Given the description of an element on the screen output the (x, y) to click on. 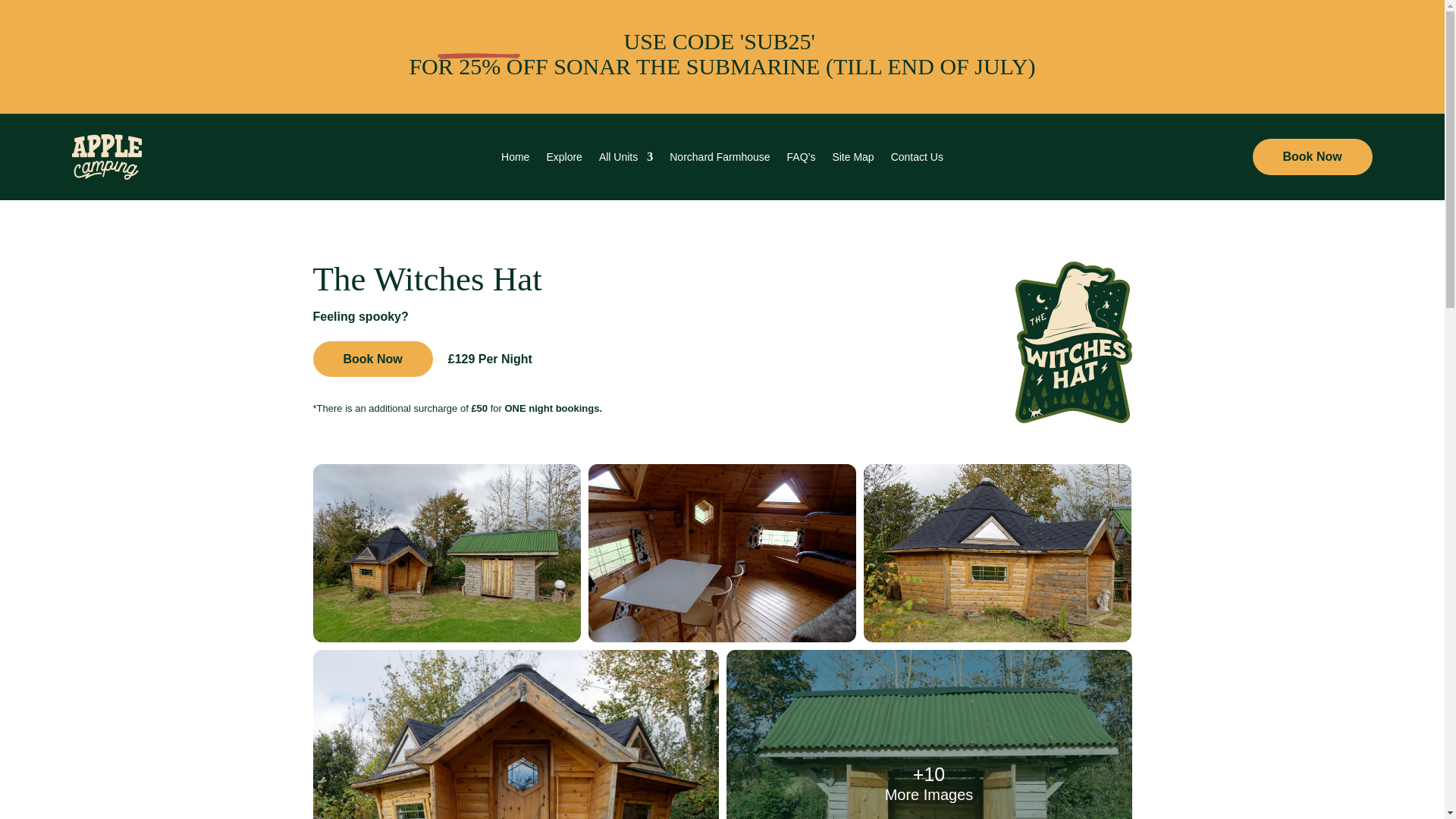
Site Map (852, 159)
witches hat (1072, 342)
All Units (625, 159)
Explore (563, 159)
Logo (106, 156)
Book Now (1312, 156)
Norchard Farmhouse (719, 159)
Home (514, 159)
Contact Us (917, 159)
